Given the description of an element on the screen output the (x, y) to click on. 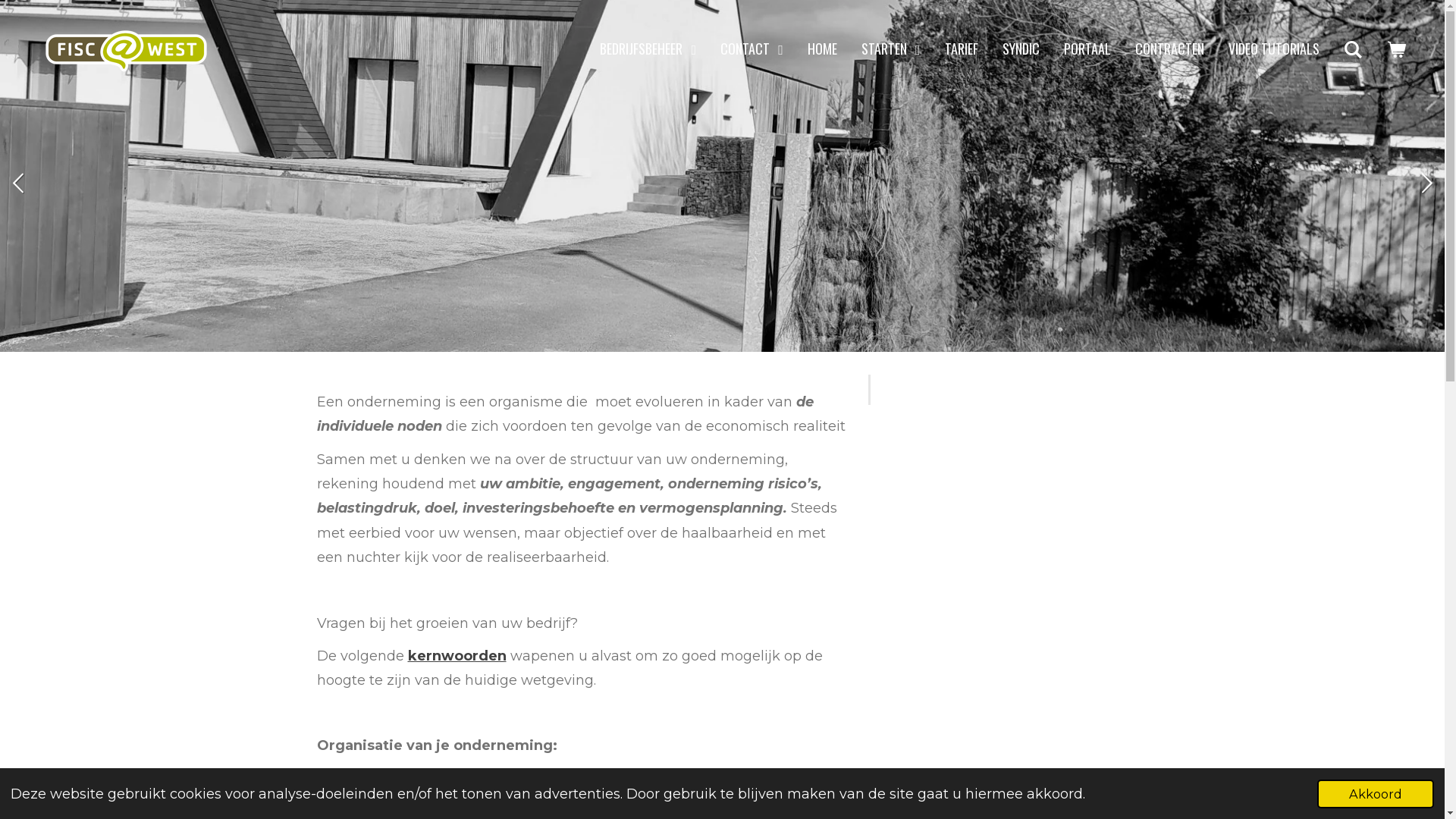
TARIEF Element type: text (961, 48)
CONTRACTEN Element type: text (1169, 48)
BEDRIJFSBEHEER Element type: text (647, 49)
HOME Element type: text (822, 48)
VIDEO TUTORIALS Element type: text (1273, 48)
Zoeken Element type: hover (1353, 49)
Akkoord Element type: text (1375, 793)
PORTAAL Element type: text (1087, 48)
SYNDIC Element type: text (1021, 48)
kernwoorden Element type: text (456, 655)
Bekijk winkelwagen Element type: hover (1396, 49)
Fisc@West Element type: hover (126, 48)
STARTEN Element type: text (890, 49)
CONTACT Element type: text (751, 49)
